Given the description of an element on the screen output the (x, y) to click on. 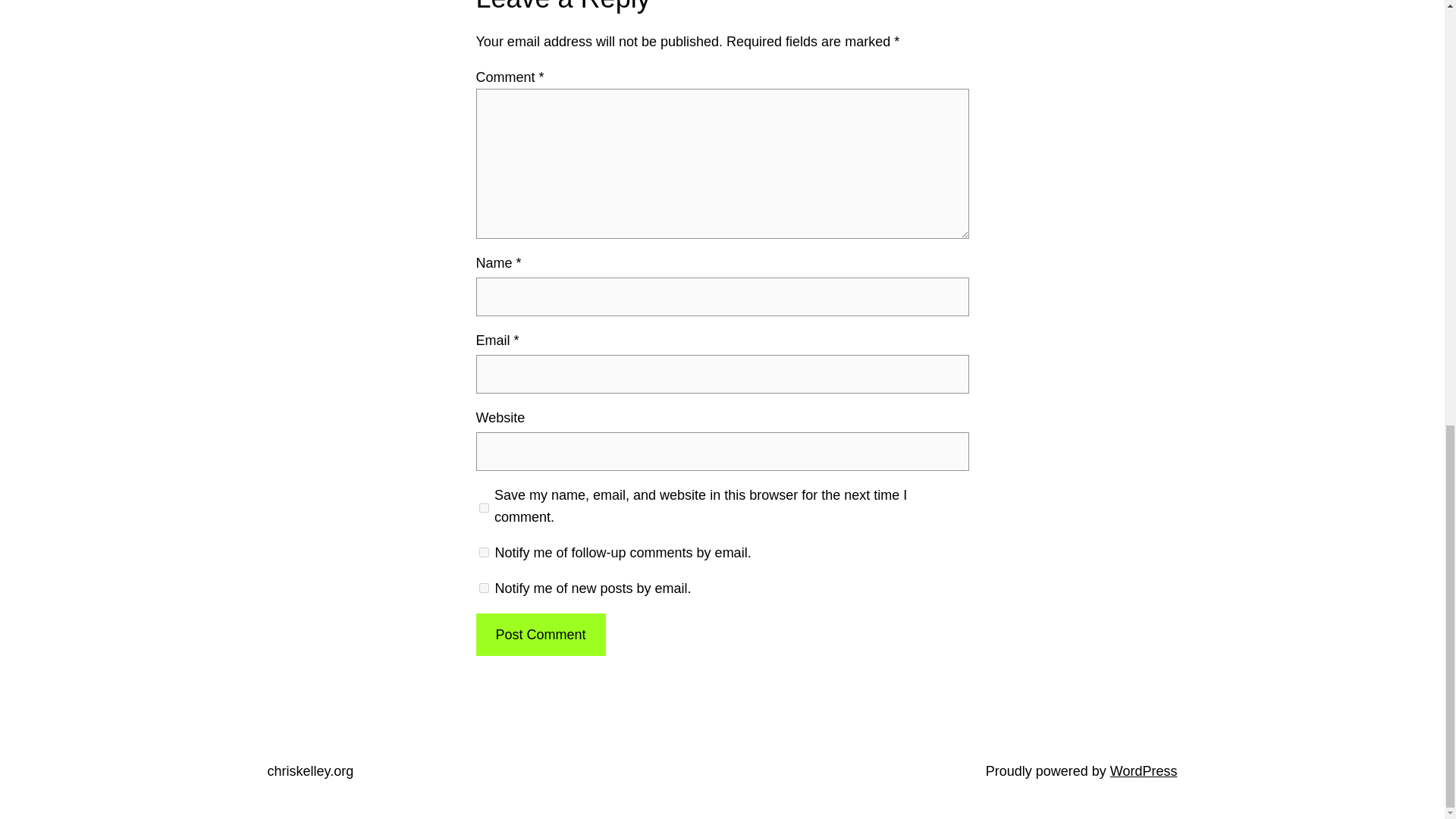
WordPress (1143, 770)
subscribe (484, 587)
Post Comment (540, 634)
chriskelley.org (309, 770)
Post Comment (540, 634)
subscribe (484, 552)
